Given the description of an element on the screen output the (x, y) to click on. 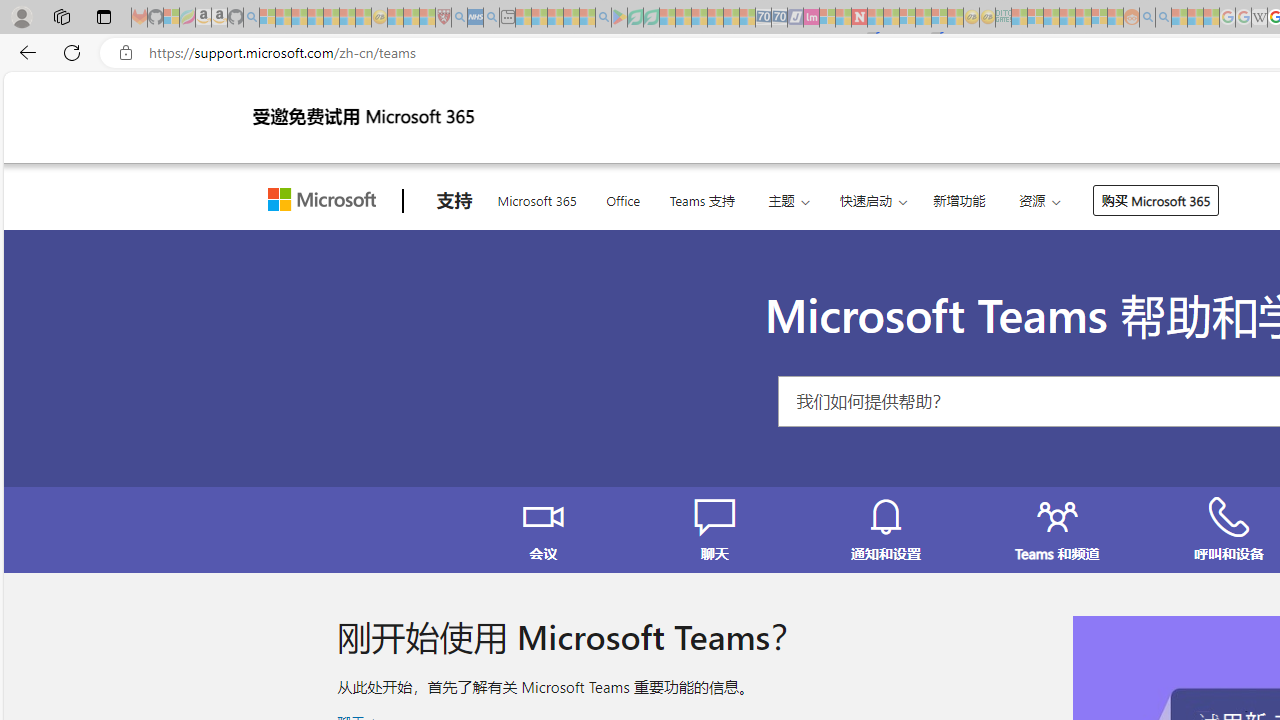
Trusted Community Engagement and Contributions | Guidelines (875, 17)
Utah sues federal government - Search - Sleeping (1163, 17)
14 Common Myths Debunked By Scientific Facts - Sleeping (891, 17)
Bluey: Let's Play! - Apps on Google Play - Sleeping (619, 17)
